Given the description of an element on the screen output the (x, y) to click on. 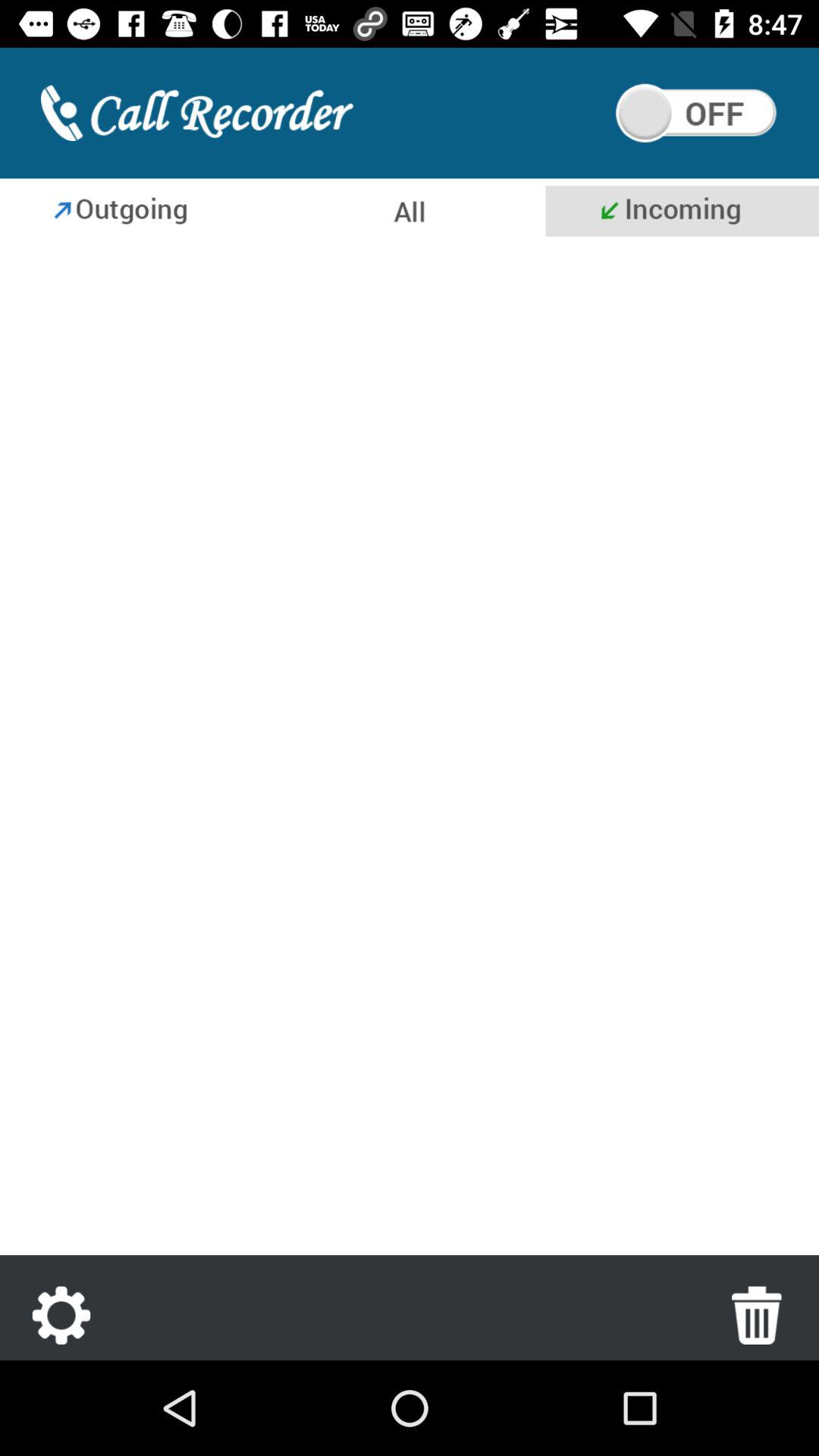
an option setting (61, 1315)
